Given the description of an element on the screen output the (x, y) to click on. 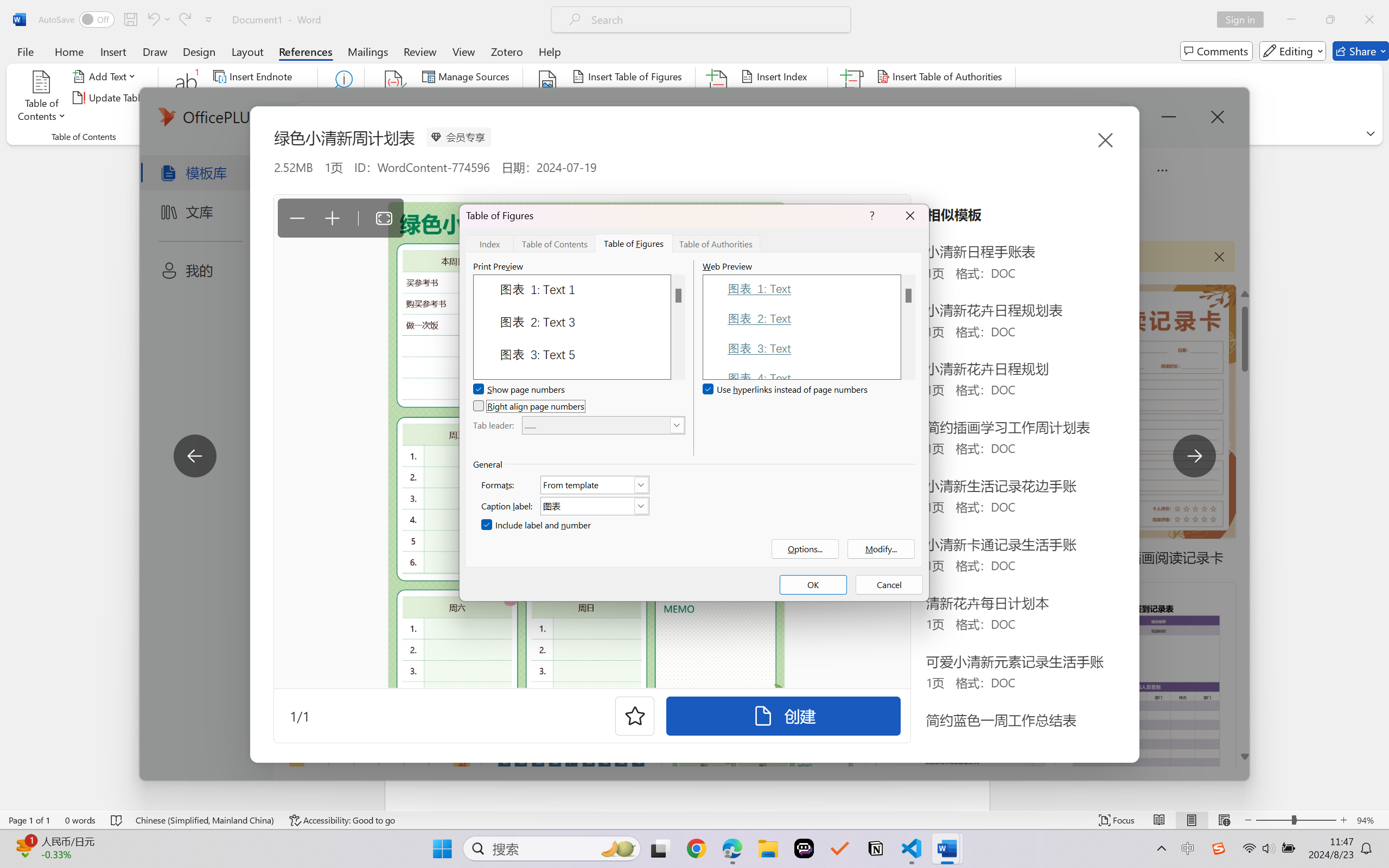
Insert Footnote (186, 97)
Formats: (595, 484)
Next Footnote (260, 97)
Caption label: (595, 505)
AutomationID: 44 (677, 327)
Sign in (1244, 19)
Use hyperlinks instead of page numbers (785, 389)
Update Table (914, 97)
Modify... (881, 548)
